Given the description of an element on the screen output the (x, y) to click on. 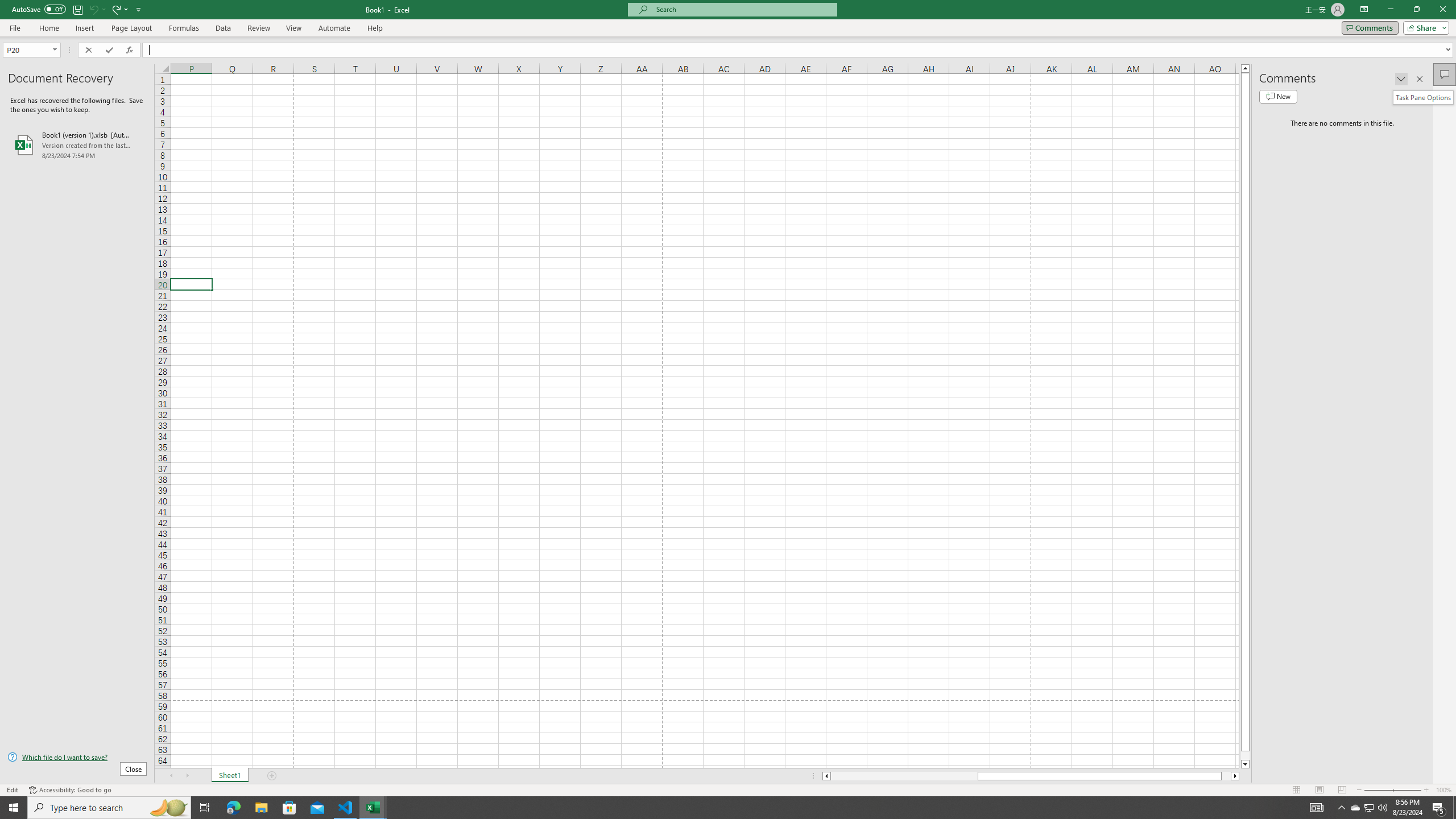
Task Pane Options (1423, 97)
Page left (903, 775)
New comment (1278, 96)
Class: MsoCommandBar (728, 18)
Close pane (1419, 78)
AutoSave (38, 9)
